Given the description of an element on the screen output the (x, y) to click on. 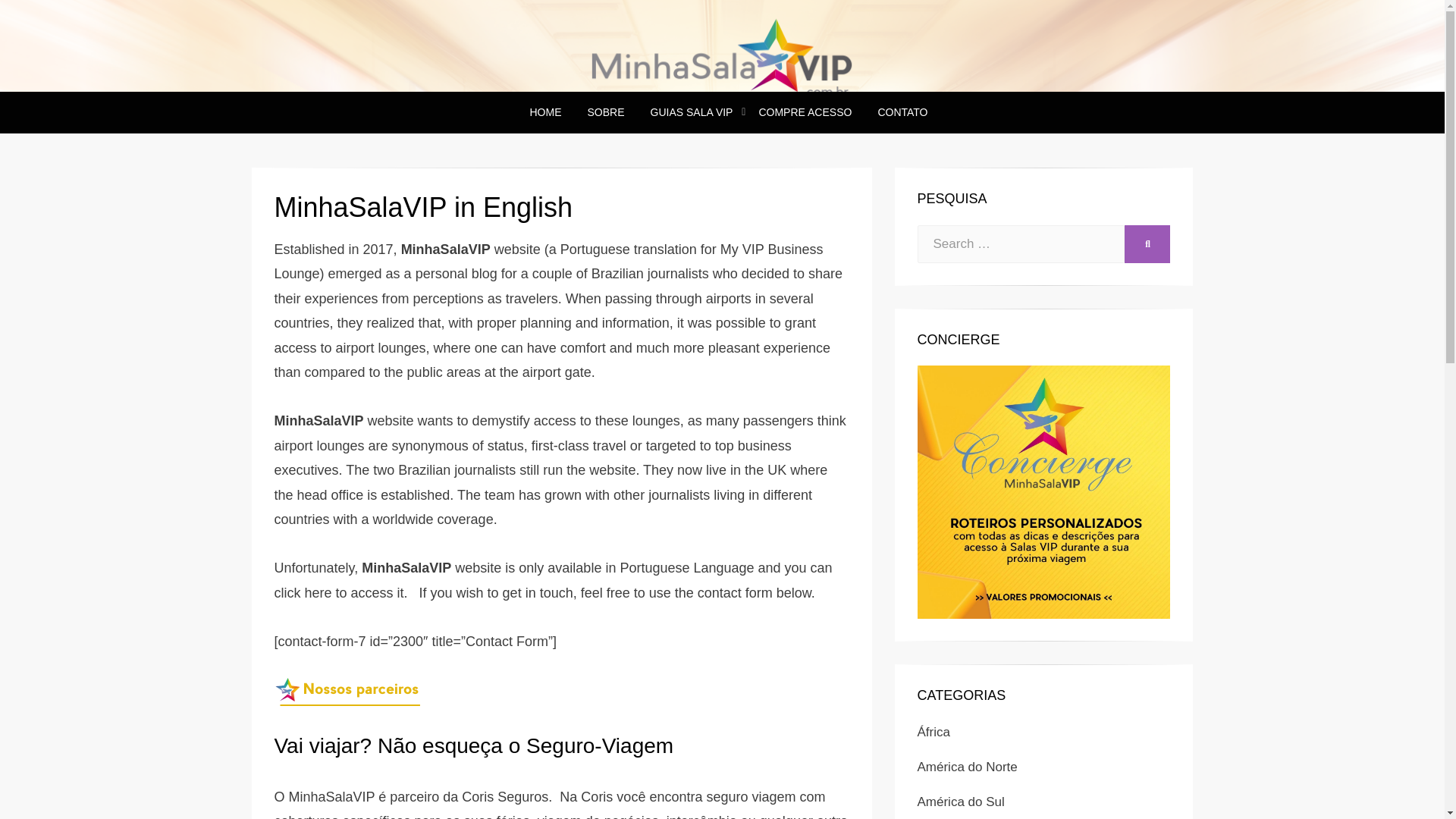
CONTATO (895, 112)
HOME (545, 112)
SEARCH (1147, 243)
GUIAS SALA VIP (691, 112)
Search for: (1021, 243)
COMPRE ACESSO (804, 112)
SOBRE (606, 112)
